Given the description of an element on the screen output the (x, y) to click on. 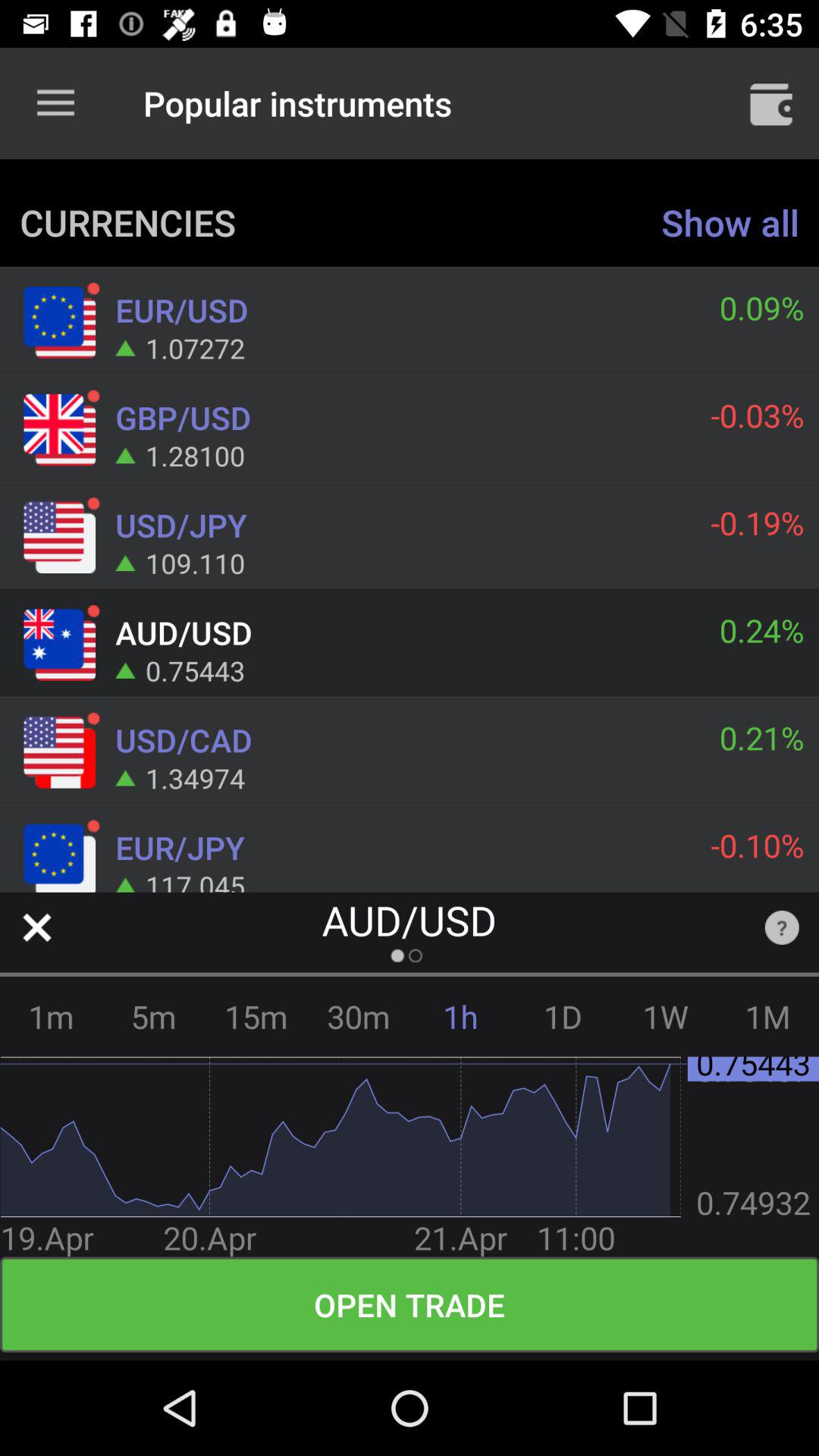
close (36, 927)
